Given the description of an element on the screen output the (x, y) to click on. 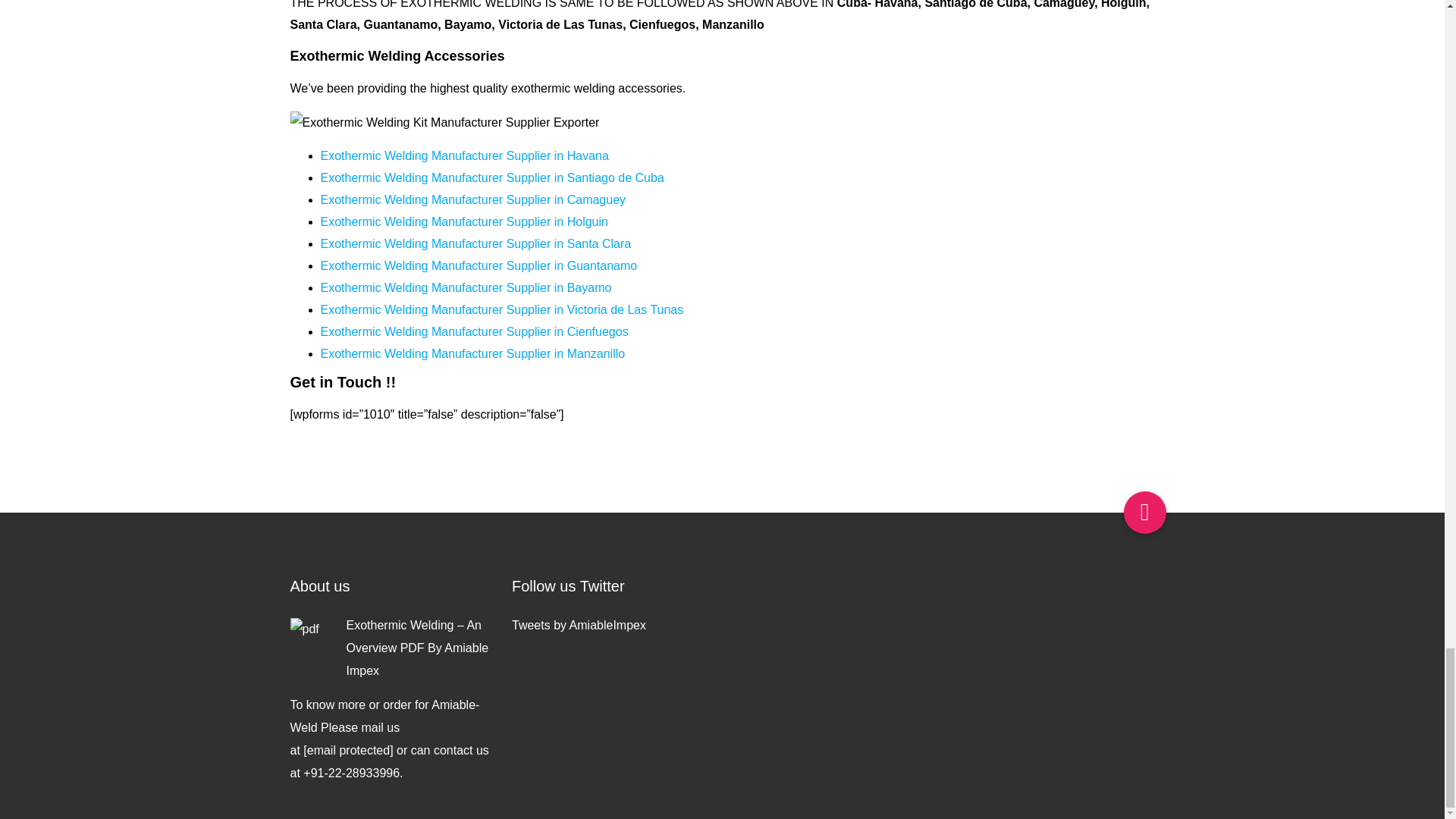
Exothermic Welding Manufacturer Supplier in Bayamo (465, 287)
Exothermic Welding Manufacturer Supplier in Havana (464, 155)
Exothermic Welding Manufacturer Supplier in Santa Clara (475, 243)
Exothermic Welding Manufacturer Supplier in Holguin (463, 221)
Exothermic Welding Manufacturer Supplier in Manzanillo  (473, 353)
Tweets by AmiableImpex (579, 625)
Exothermic Welding Manufacturer Supplier in Camaguey (473, 199)
Exothermic Welding Manufacturer Supplier in Santiago de Cuba (491, 177)
Exothermic Welding Manufacturer Supplier in Guantanamo (478, 265)
Exothermic Welding Manufacturer Supplier in Cienfuegos (473, 331)
